Given the description of an element on the screen output the (x, y) to click on. 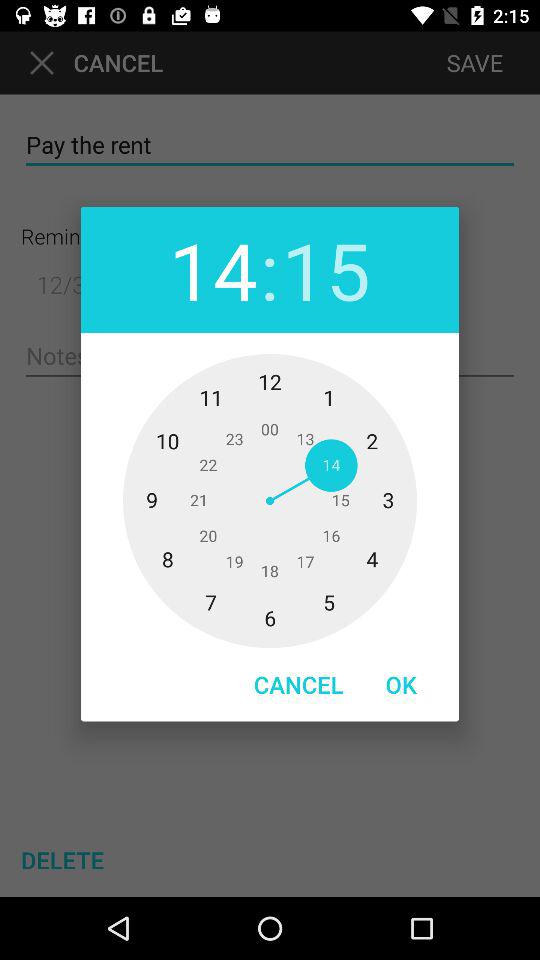
click cancel icon (298, 684)
